Given the description of an element on the screen output the (x, y) to click on. 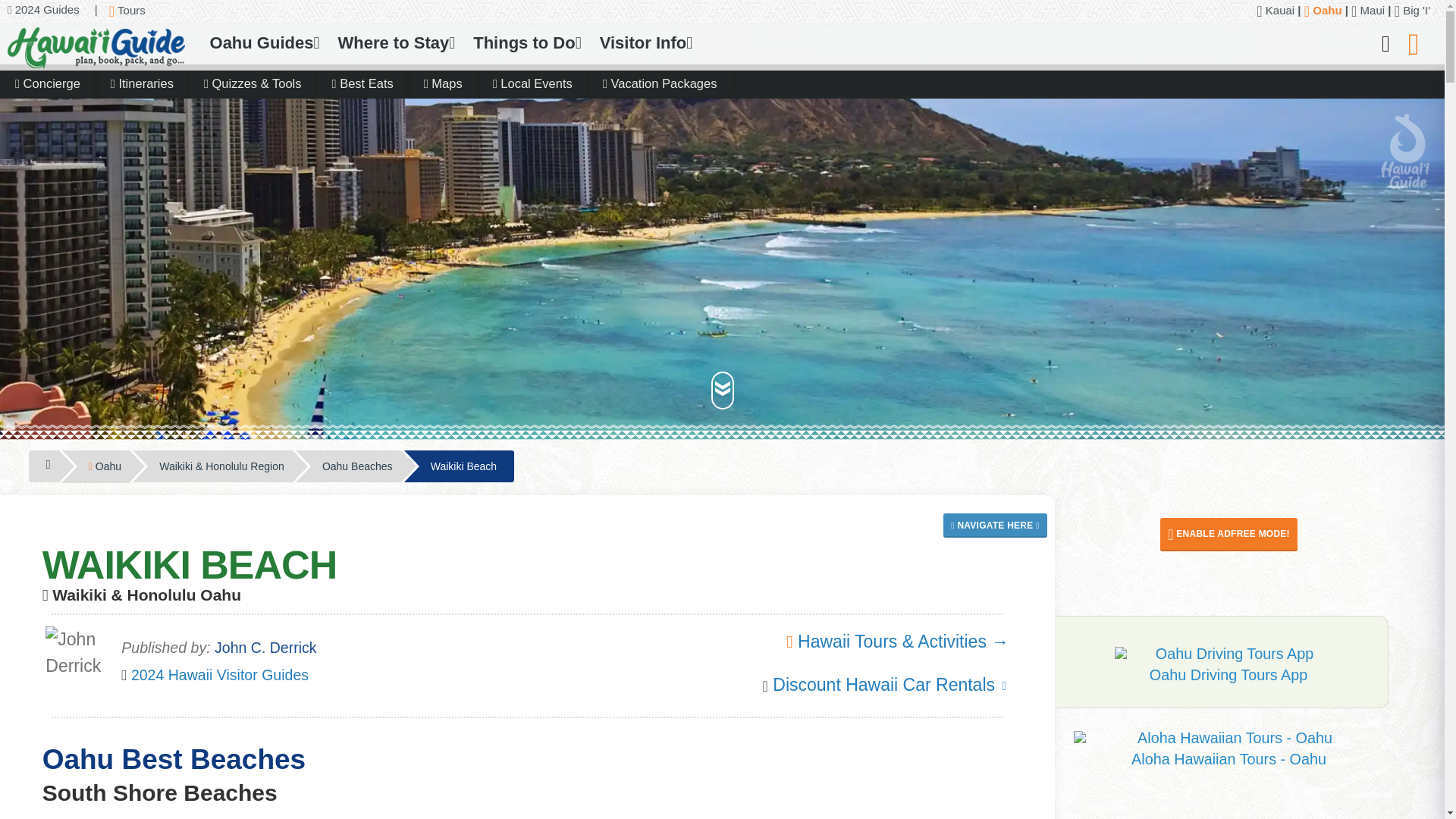
Things to Do (526, 43)
Hawaii Itineraries (141, 83)
Kauai (1275, 10)
2024 Guides (40, 9)
Kauai Travel Guide (1275, 10)
Hawaii Travel Quizzes and Tools (252, 83)
Visitor Info (646, 43)
Maui Travel Guide (1367, 10)
Concierge (47, 83)
Oahu Guides (264, 43)
Oahu Travel Guide (1323, 10)
Hawaii Concierge (47, 83)
Where to Stay (396, 43)
Open in Google Maps (994, 522)
Hawaii Maps (443, 83)
